Given the description of an element on the screen output the (x, y) to click on. 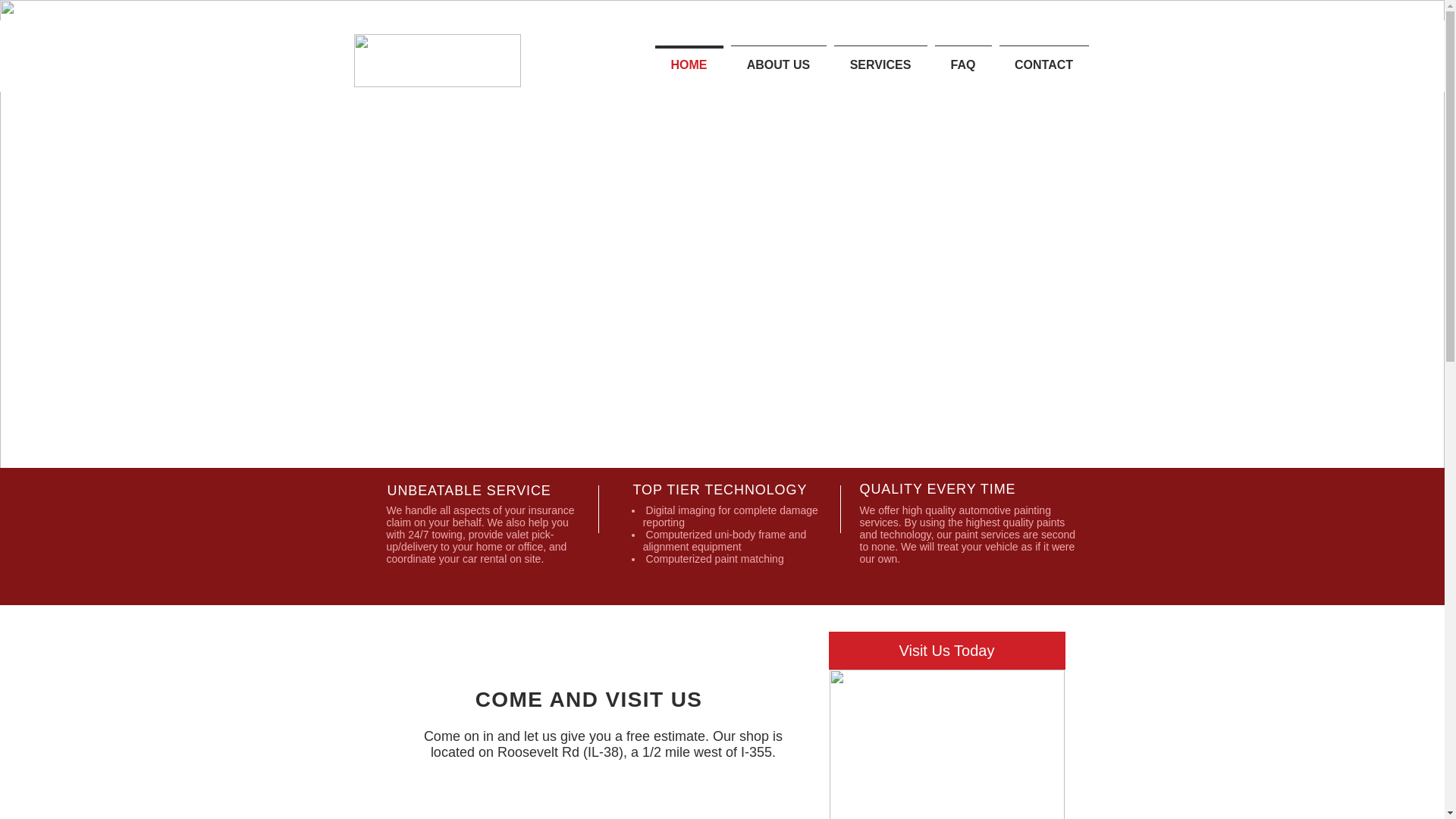
Visit Us Today (946, 650)
SERVICES (879, 58)
CONTACT (1043, 58)
HOME (688, 58)
ABOUT US (777, 58)
FAQ (963, 58)
